Given the description of an element on the screen output the (x, y) to click on. 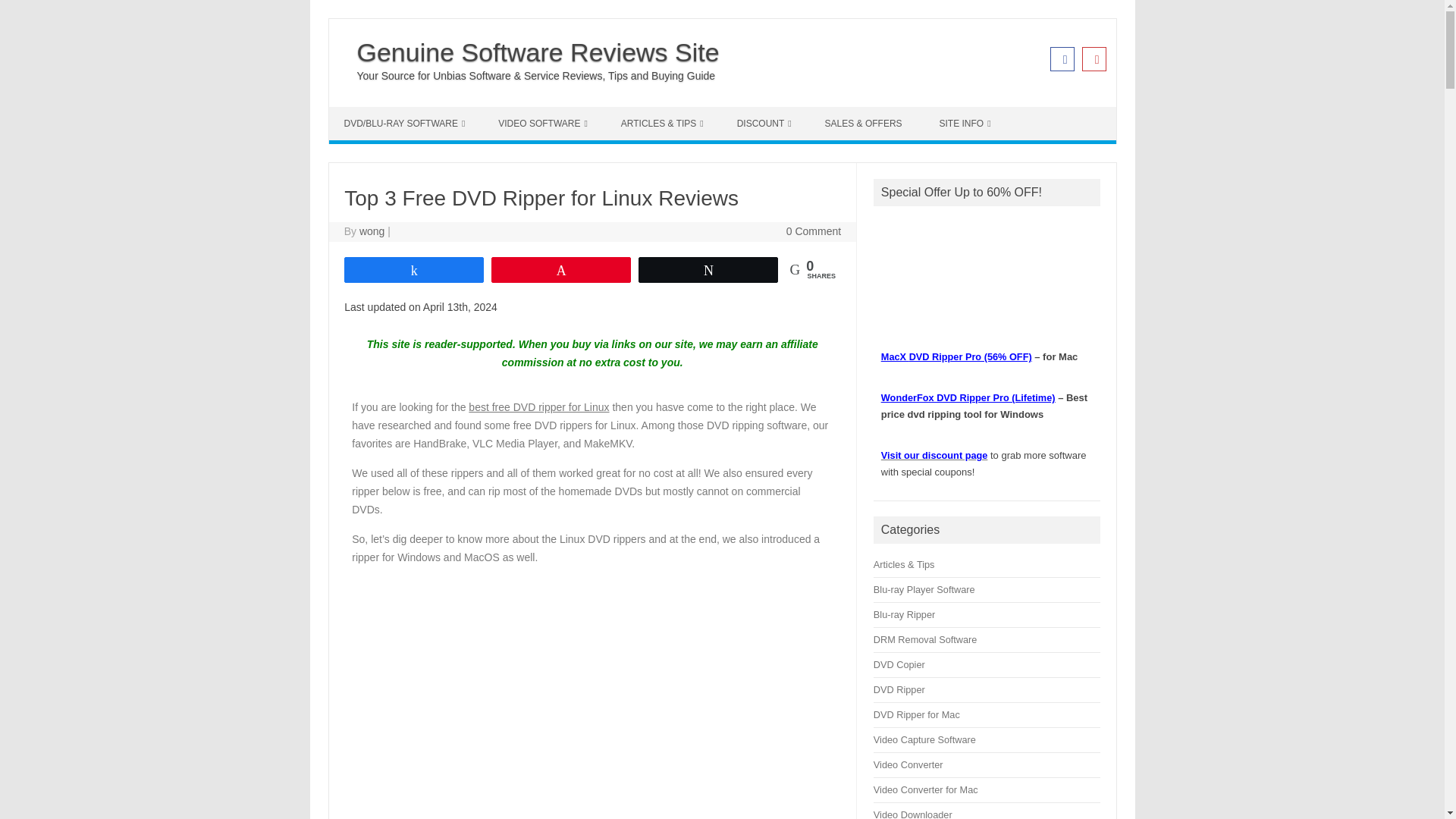
VIDEO SOFTWARE (542, 123)
Skip to content (363, 112)
Posts by wong (371, 231)
Genuine Software Reviews Site (537, 51)
Genuine Software Reviews Site (537, 51)
Skip to content (363, 112)
